Given the description of an element on the screen output the (x, y) to click on. 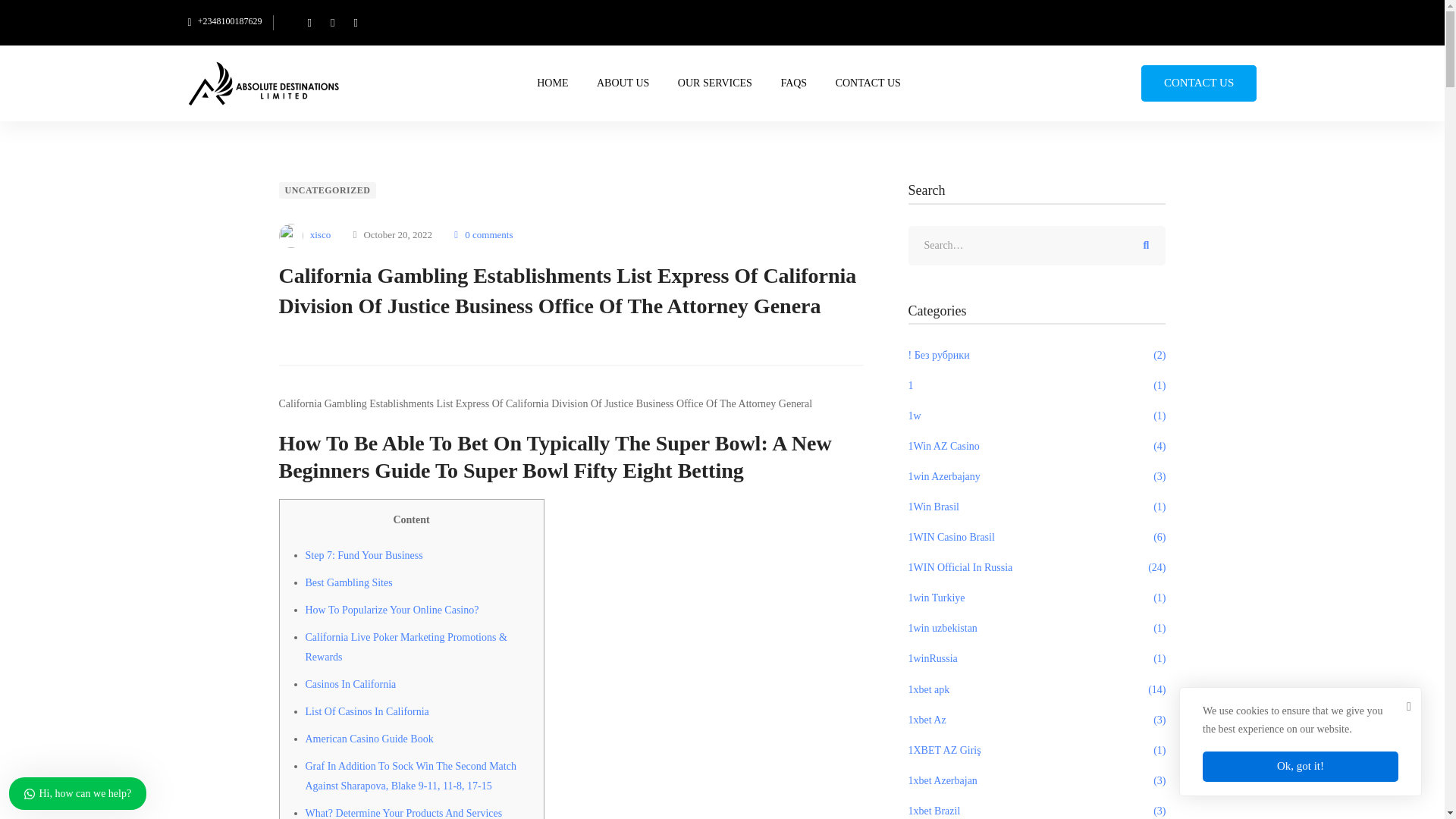
Search for: (1037, 245)
OUR SERVICES (715, 83)
Step 7: Fund Your Business (363, 555)
0 comments (483, 234)
CONTACT US (868, 83)
CONTACT US (1198, 83)
0 comments (483, 234)
HOME (552, 83)
List Of Casinos In California (366, 711)
